Given the description of an element on the screen output the (x, y) to click on. 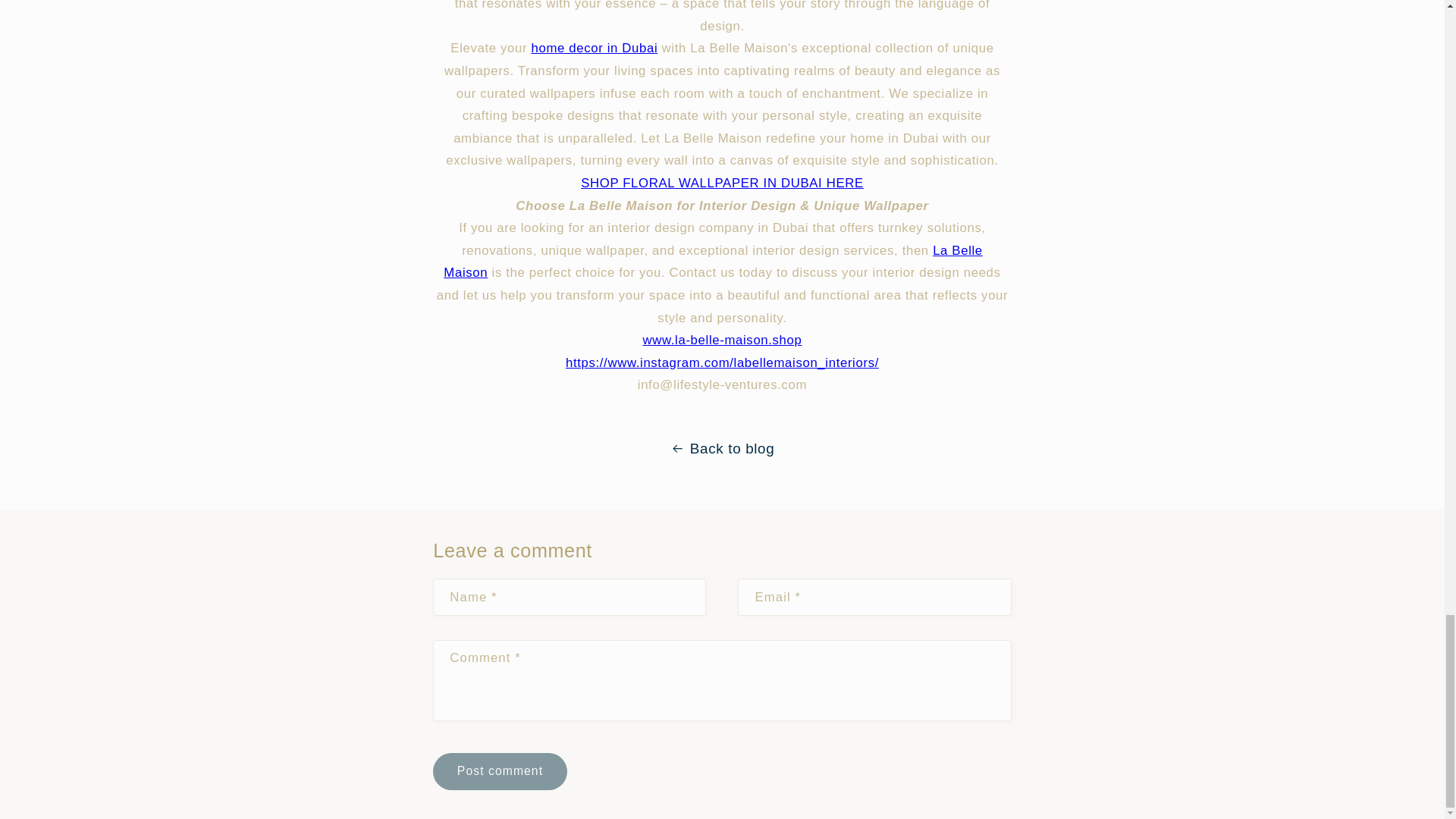
Post comment (499, 771)
la belle maison wallpaper shop in dubai (722, 362)
la belle maison wallpaper shop in dubai (722, 339)
FLORAL WALLPAPER IN DUBAI (721, 183)
